Given the description of an element on the screen output the (x, y) to click on. 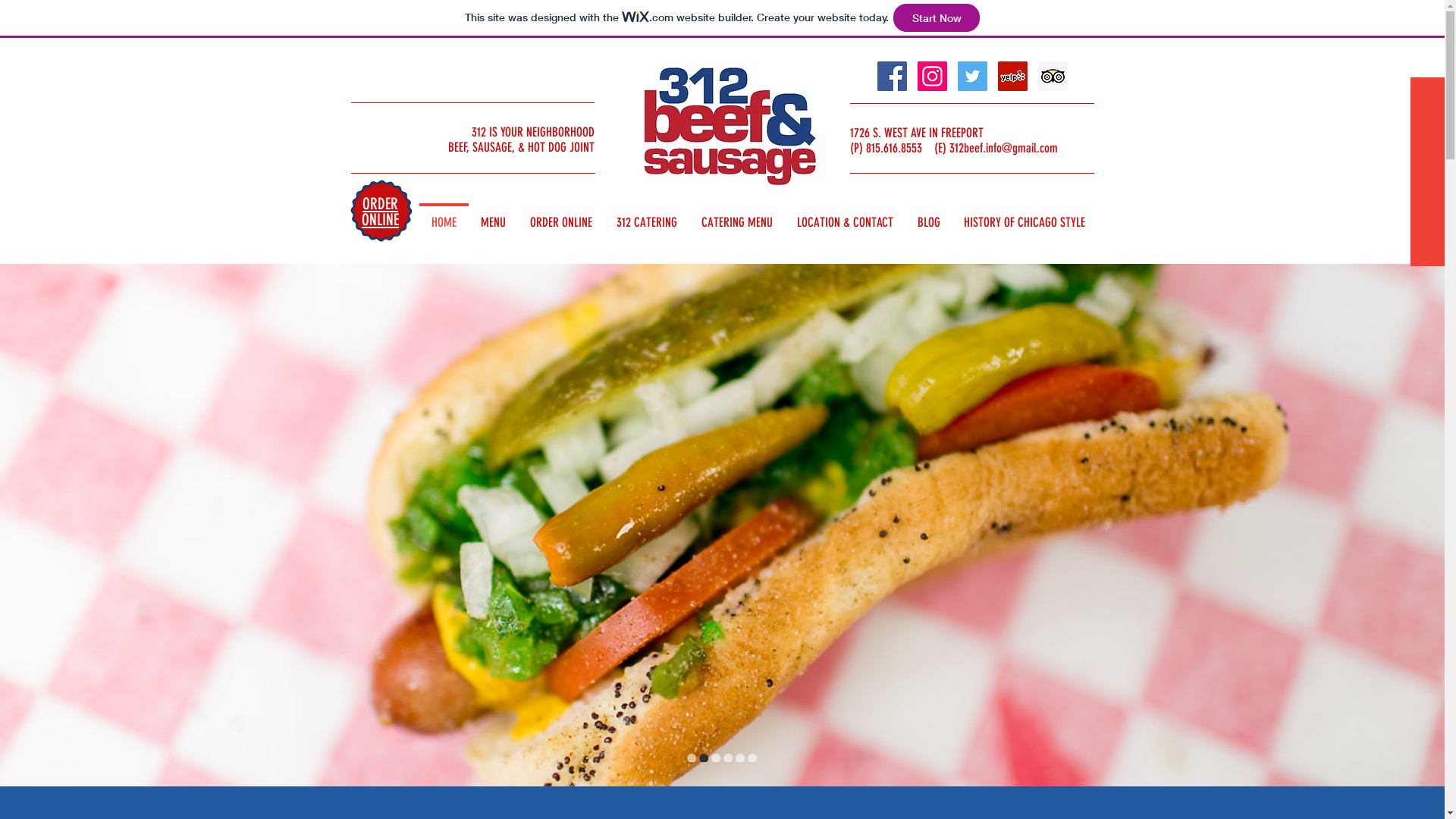
HISTORY OF CHICAGO STYLE Element type: text (1024, 215)
MENU Element type: text (492, 215)
LOCATION & CONTACT Element type: text (844, 215)
CATERING MENU Element type: text (736, 215)
ORDER Element type: text (380, 203)
ONLINE Element type: text (379, 219)
HOME Element type: text (442, 215)
ORDER ONLINE Element type: text (560, 215)
BLOG Element type: text (928, 215)
312 CATERING Element type: text (645, 215)
